Given the description of an element on the screen output the (x, y) to click on. 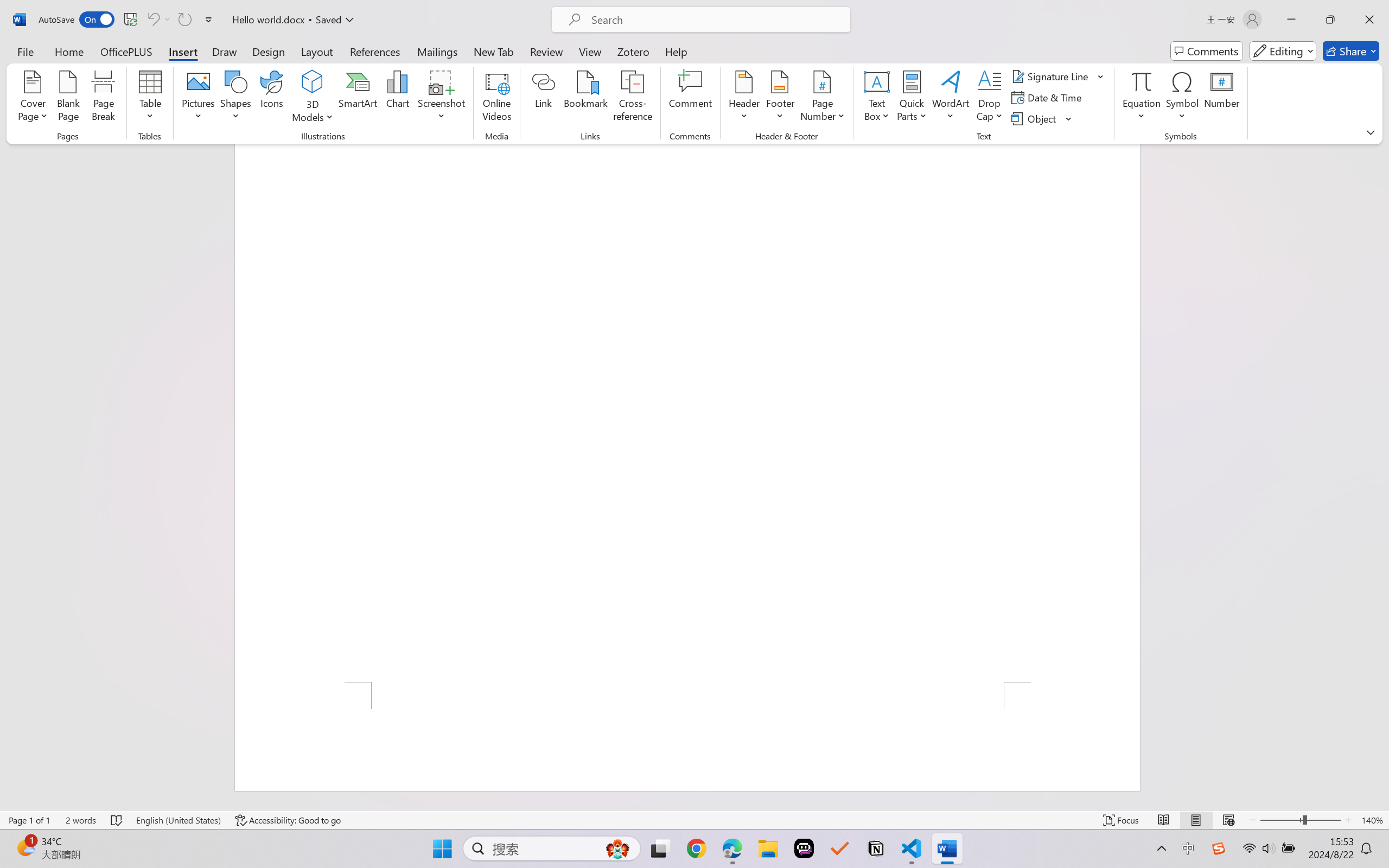
Class: MsoCommandBar (694, 819)
Notion (875, 848)
AutomationID: BadgeAnchorLargeTicker (24, 847)
Customize Quick Access Toolbar (208, 19)
Review (546, 51)
Zoom In (1348, 819)
Close (1369, 19)
AutoSave (76, 19)
More Options (167, 19)
New Tab (493, 51)
Zoom (1300, 819)
Accessibility Checker Accessibility: Good to go (288, 819)
Print Layout (1196, 819)
